Given the description of an element on the screen output the (x, y) to click on. 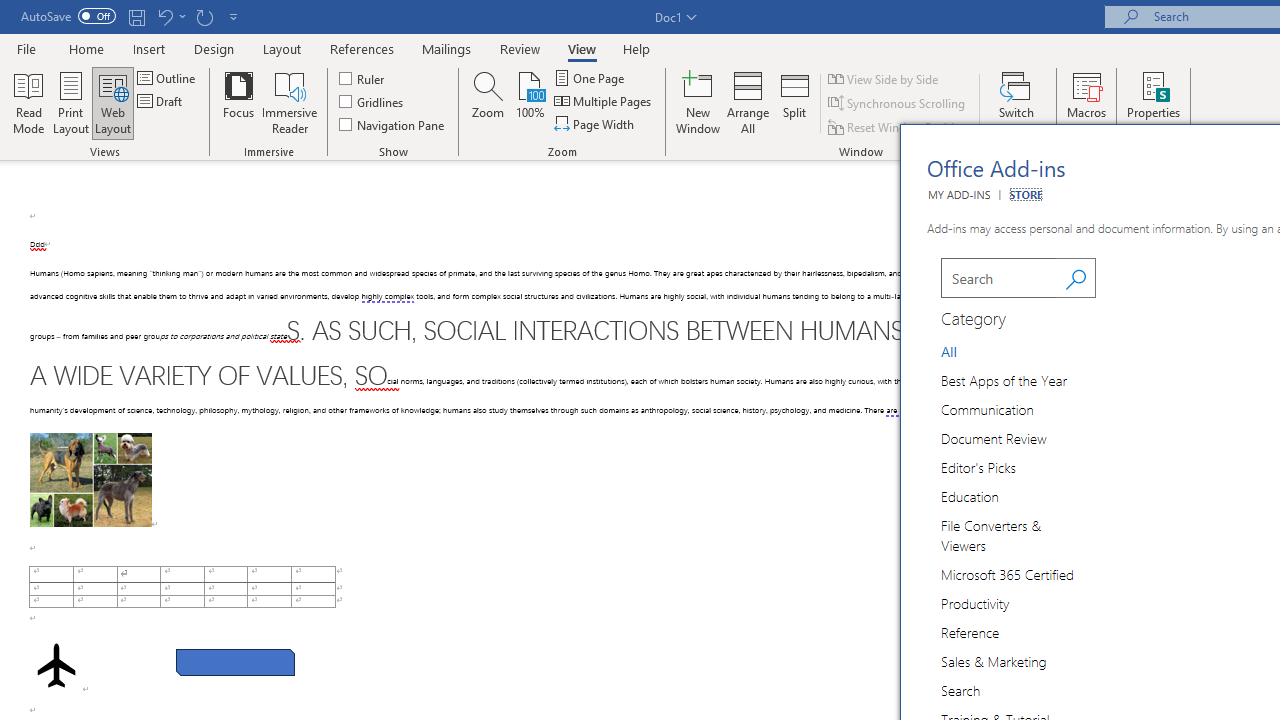
Gridlines (372, 101)
Category Group Education 6 of 14 (973, 495)
Undo Paragraph Alignment (164, 15)
